Given the description of an element on the screen output the (x, y) to click on. 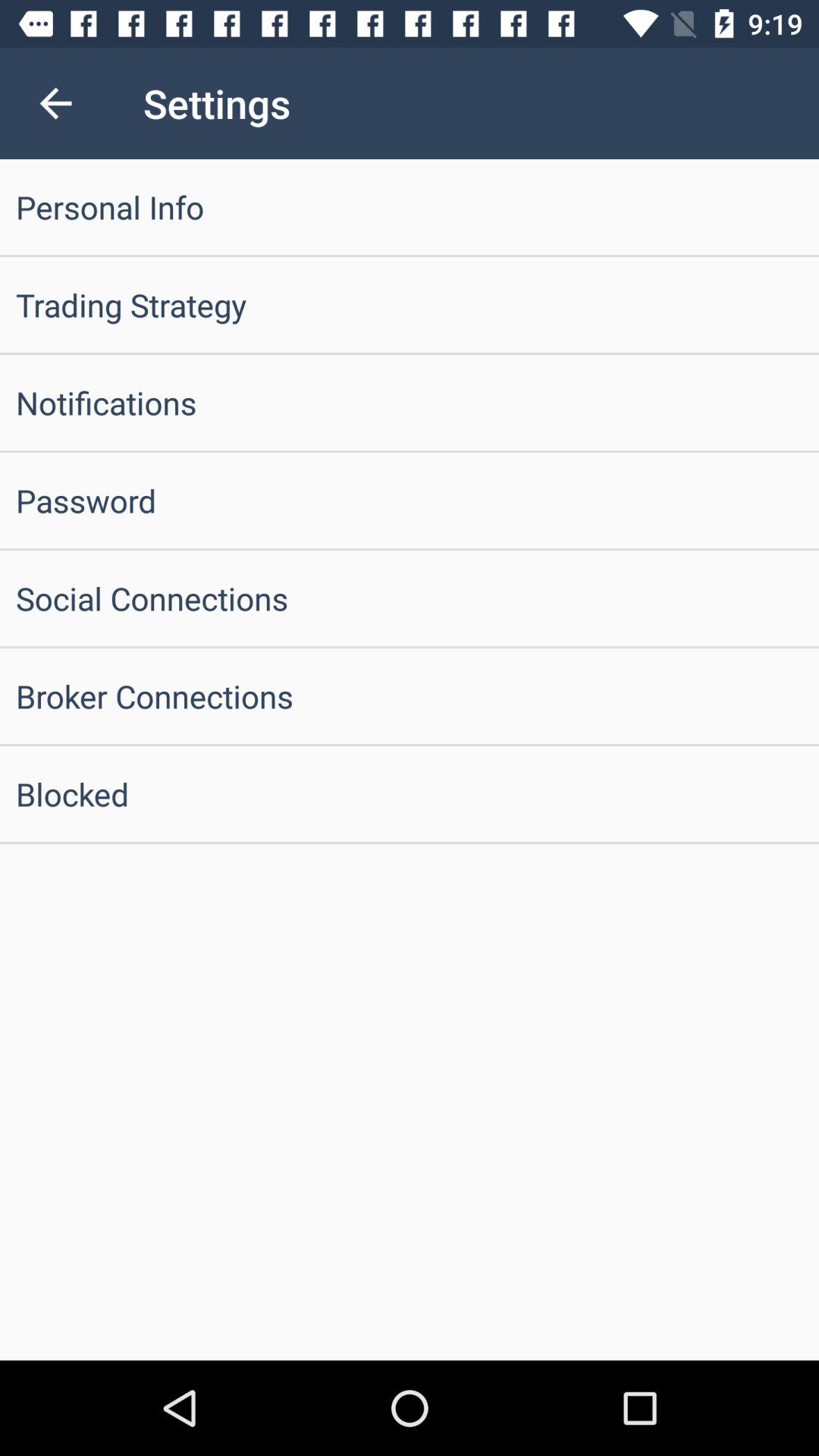
select blocked item (409, 793)
